Given the description of an element on the screen output the (x, y) to click on. 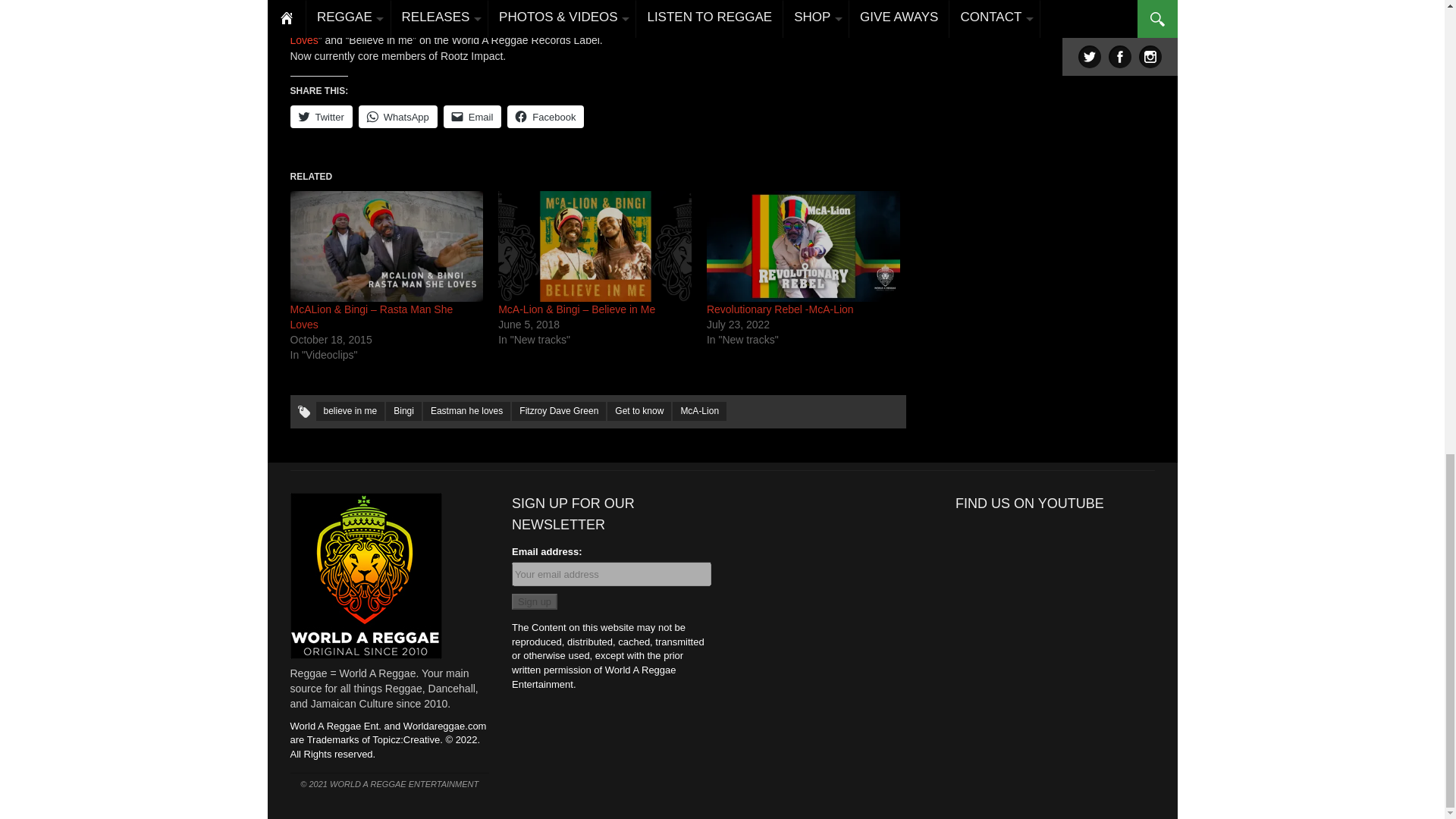
WhatsApp (398, 116)
believe in me (349, 411)
Revolutionary Rebel -McA-Lion (779, 309)
Bingi (403, 411)
Facebook (544, 116)
Click to share on Facebook (544, 116)
World A Reggae Entertainment (365, 573)
Sign up (534, 601)
Email (473, 116)
Twitter (320, 116)
Click to share on Twitter (320, 116)
Click to email a link to a friend (473, 116)
Revolutionary Rebel -McA-Lion (779, 309)
Revolutionary Rebel -McA-Lion (802, 246)
Click to share on WhatsApp (398, 116)
